Given the description of an element on the screen output the (x, y) to click on. 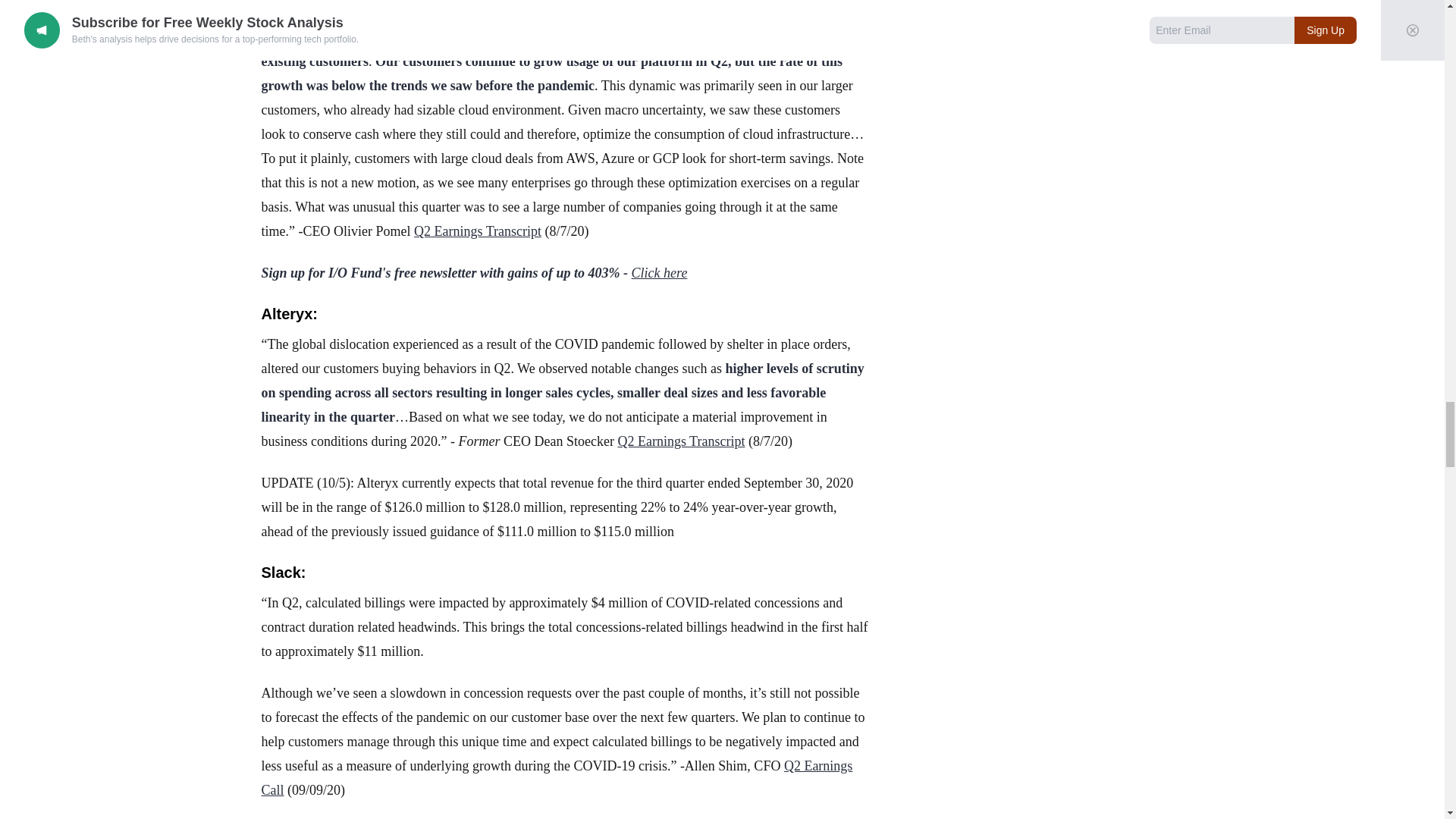
Q2 Earnings Transcript (477, 231)
Click here (659, 272)
Q2 Earnings Transcript (680, 441)
